Given the description of an element on the screen output the (x, y) to click on. 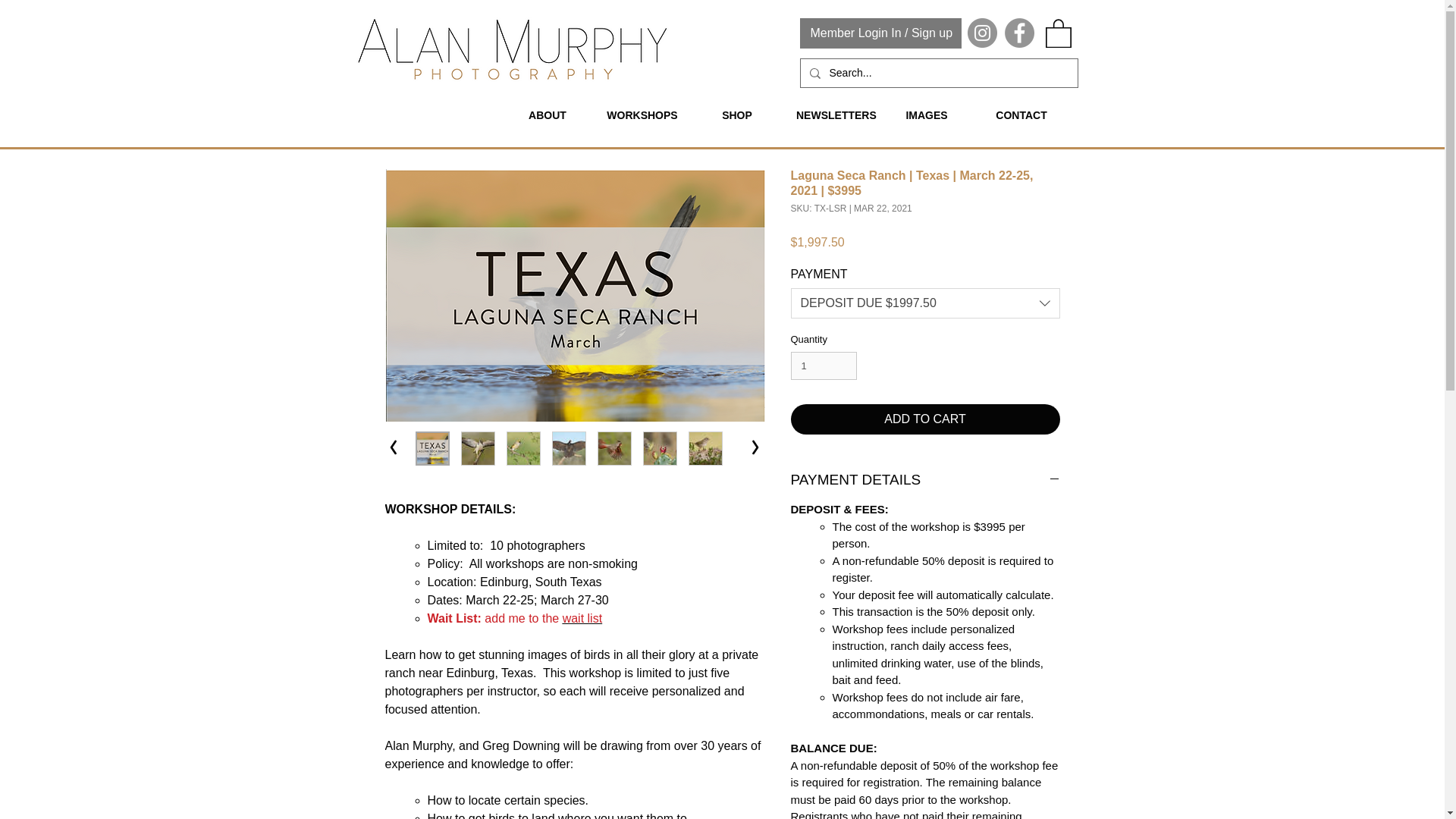
PAYMENT DETAILS (924, 479)
wait list (582, 617)
ADD TO CART (924, 419)
NEWSLETTERS (831, 115)
1 (823, 366)
WORKSHOPS (641, 115)
CONTACT (1021, 115)
